Given the description of an element on the screen output the (x, y) to click on. 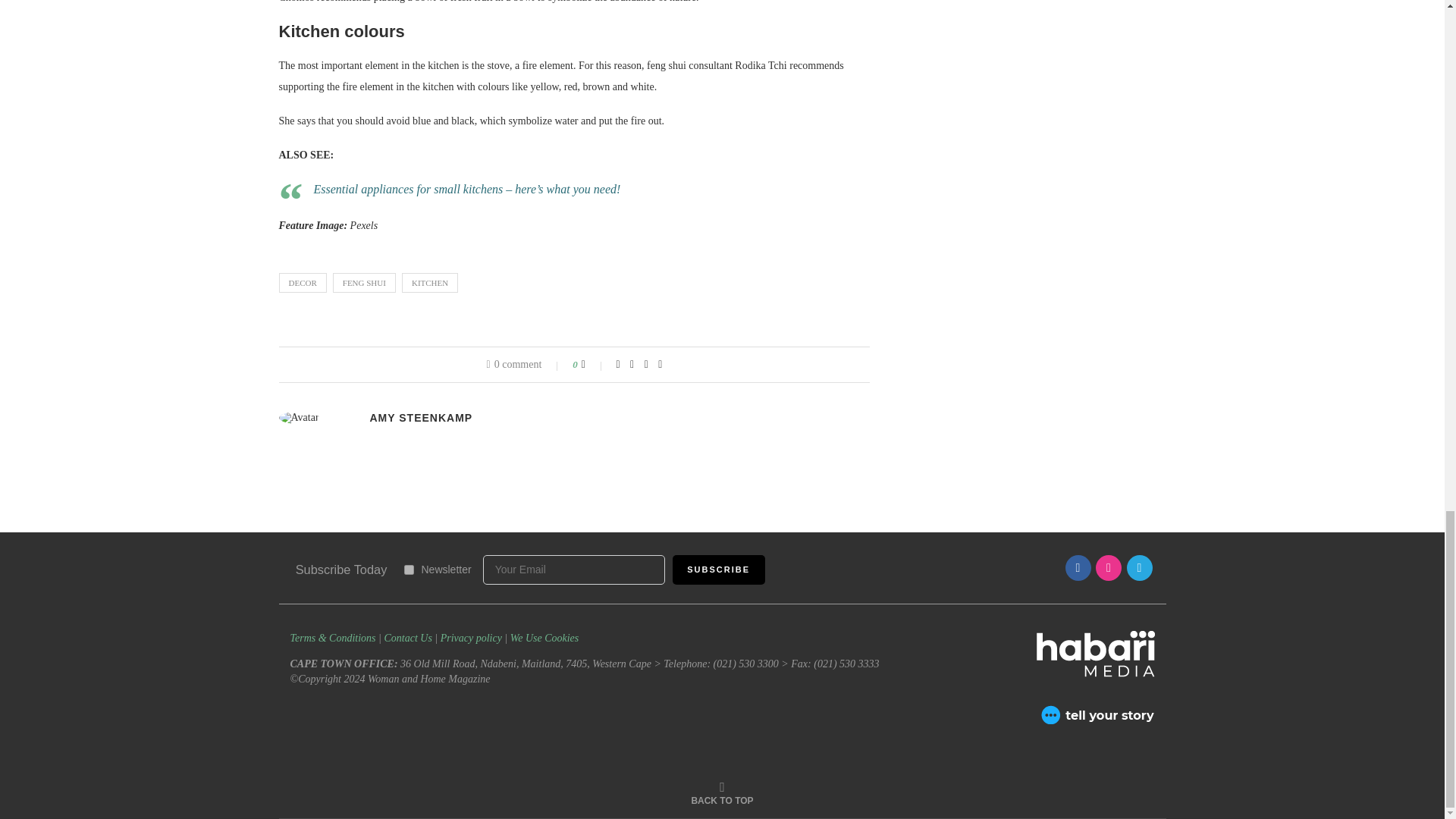
Subscribe (718, 569)
19087 (408, 569)
Like (592, 364)
Posts by Amy Steenkamp (421, 417)
